Given the description of an element on the screen output the (x, y) to click on. 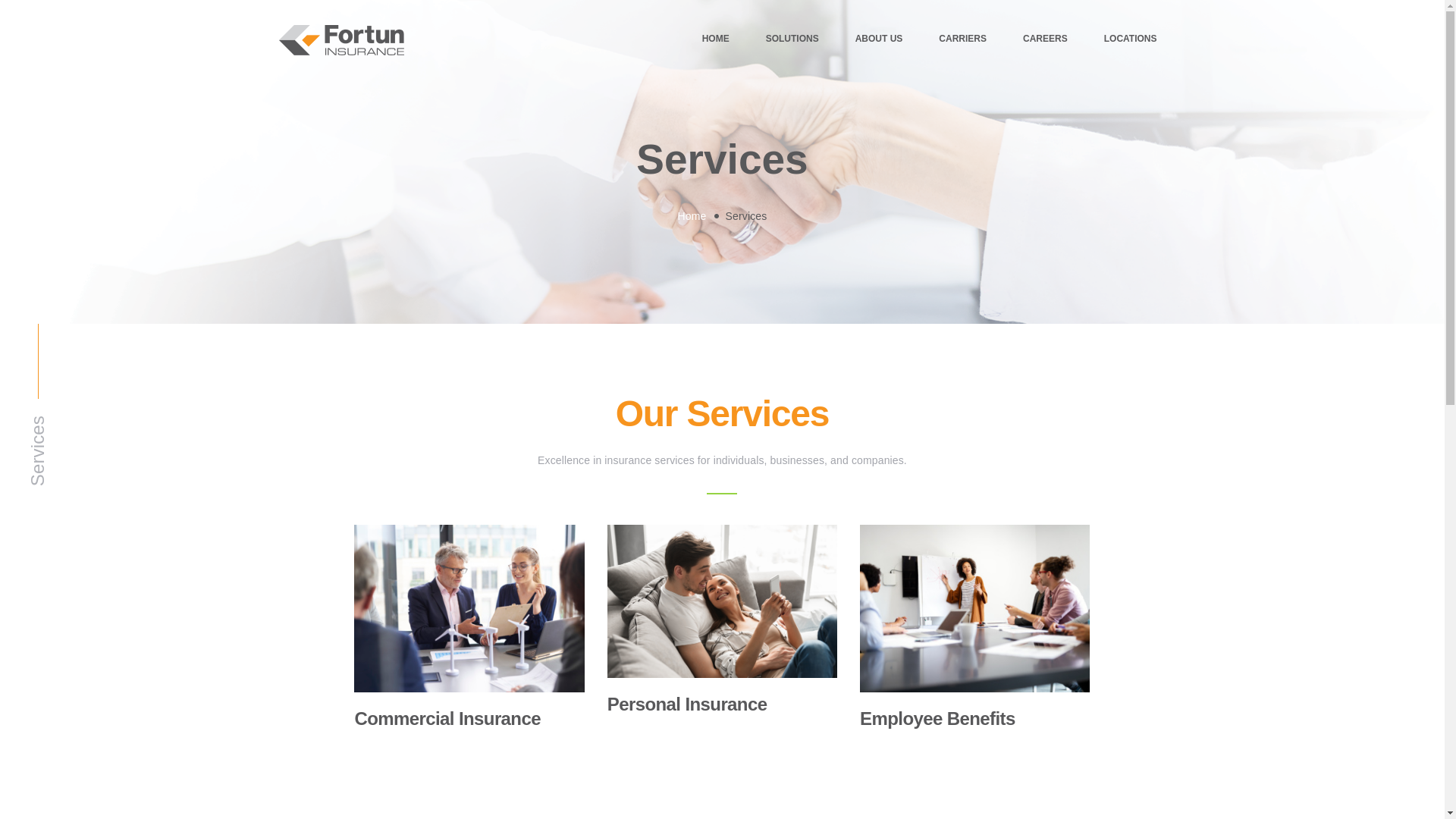
CARRIERS (962, 38)
CAREERS (1045, 38)
SOLUTIONS (792, 38)
Services (178, 426)
ABOUT US (878, 38)
HOME (715, 38)
LOCATIONS (1130, 38)
Home (692, 216)
